Given the description of an element on the screen output the (x, y) to click on. 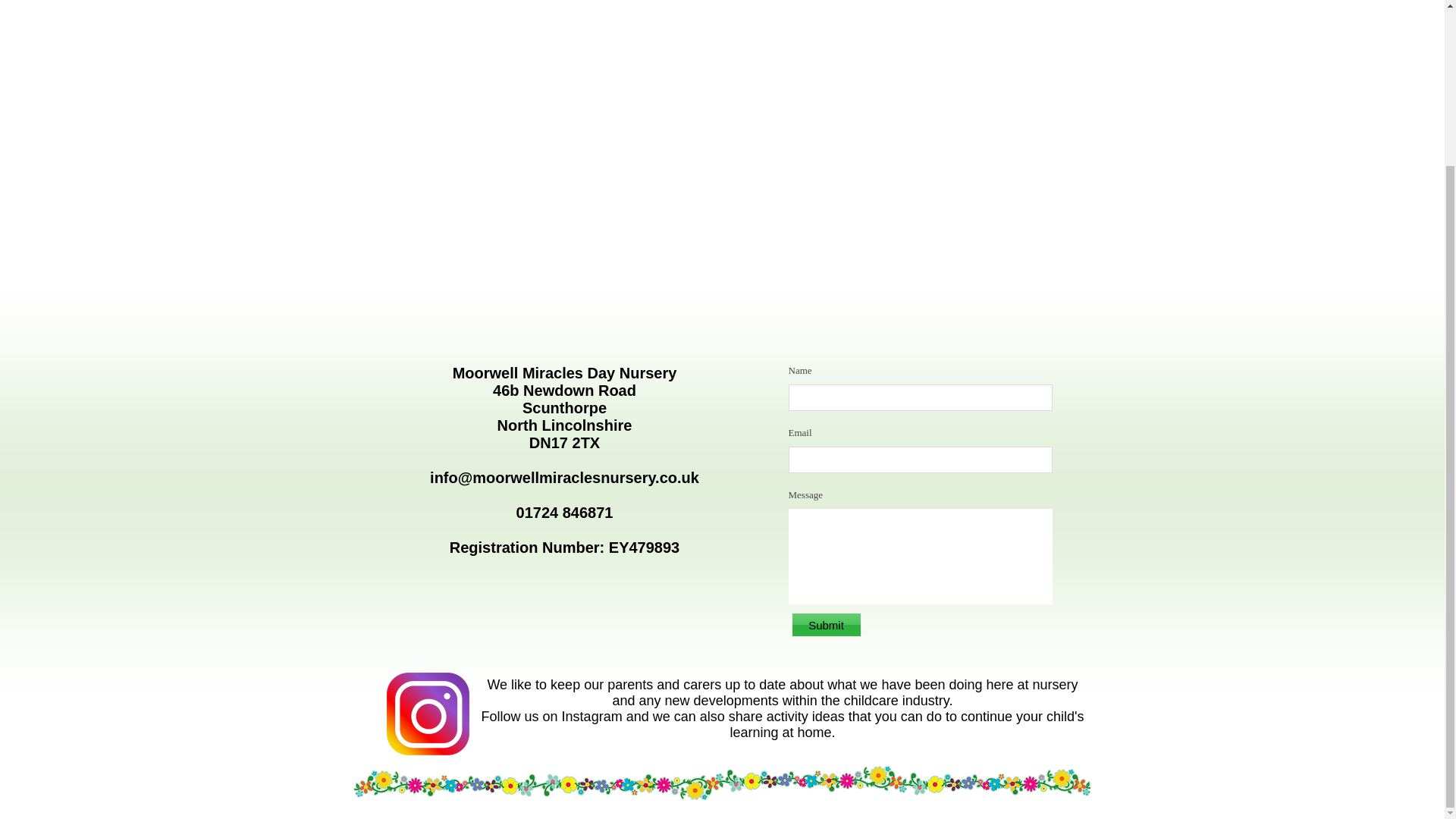
instagram.png (427, 713)
Flower Banner.png (721, 783)
